Given the description of an element on the screen output the (x, y) to click on. 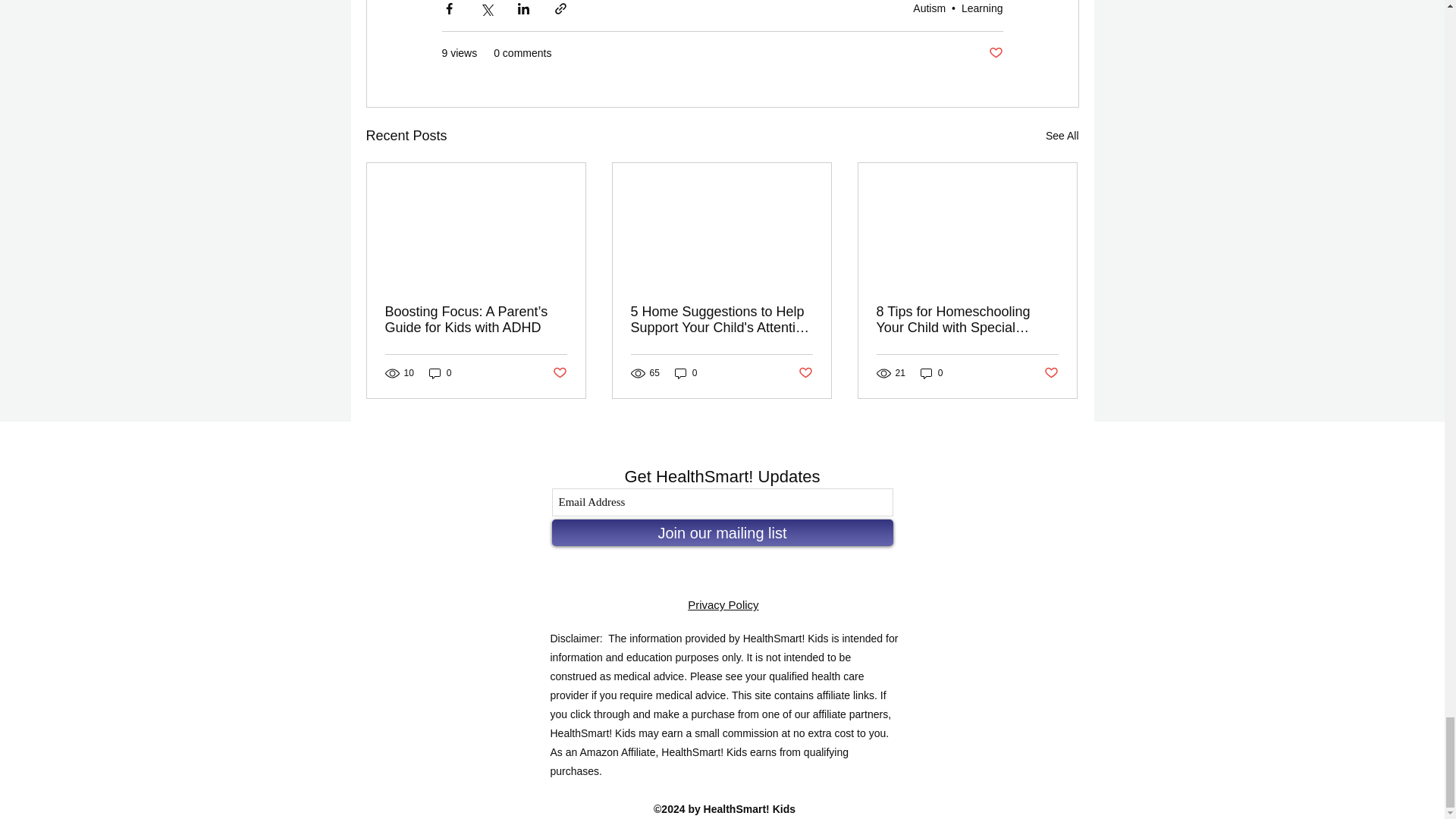
Autism (928, 8)
Post not marked as liked (804, 373)
Post not marked as liked (558, 373)
Post not marked as liked (995, 53)
0 (685, 373)
Learning (981, 8)
0 (440, 373)
See All (1061, 136)
8 Tips for Homeschooling Your Child with Special Needs (967, 319)
